Given the description of an element on the screen output the (x, y) to click on. 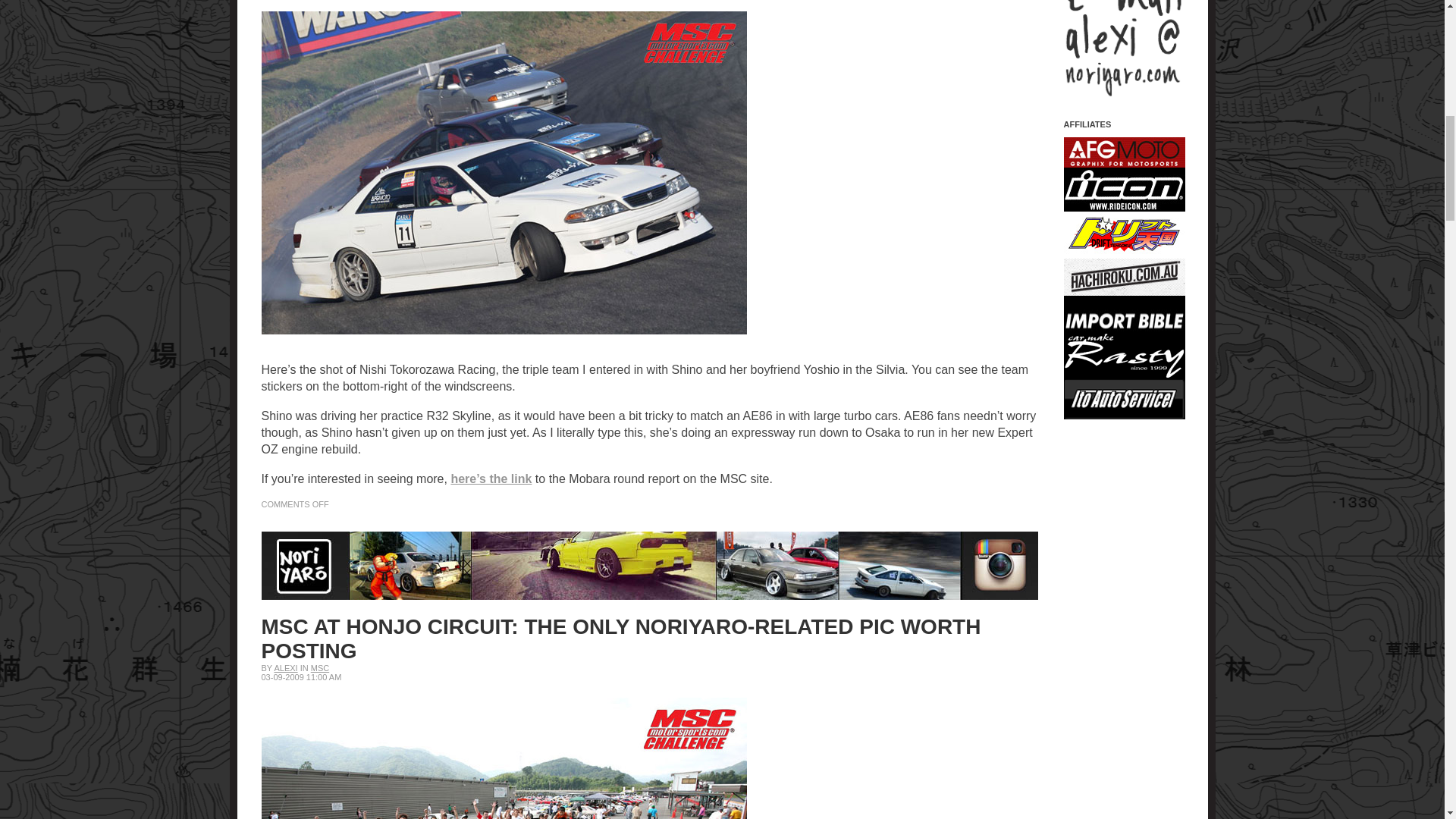
ALEXI (285, 667)
MSC (320, 667)
Posts by Alexi (285, 667)
